Given the description of an element on the screen output the (x, y) to click on. 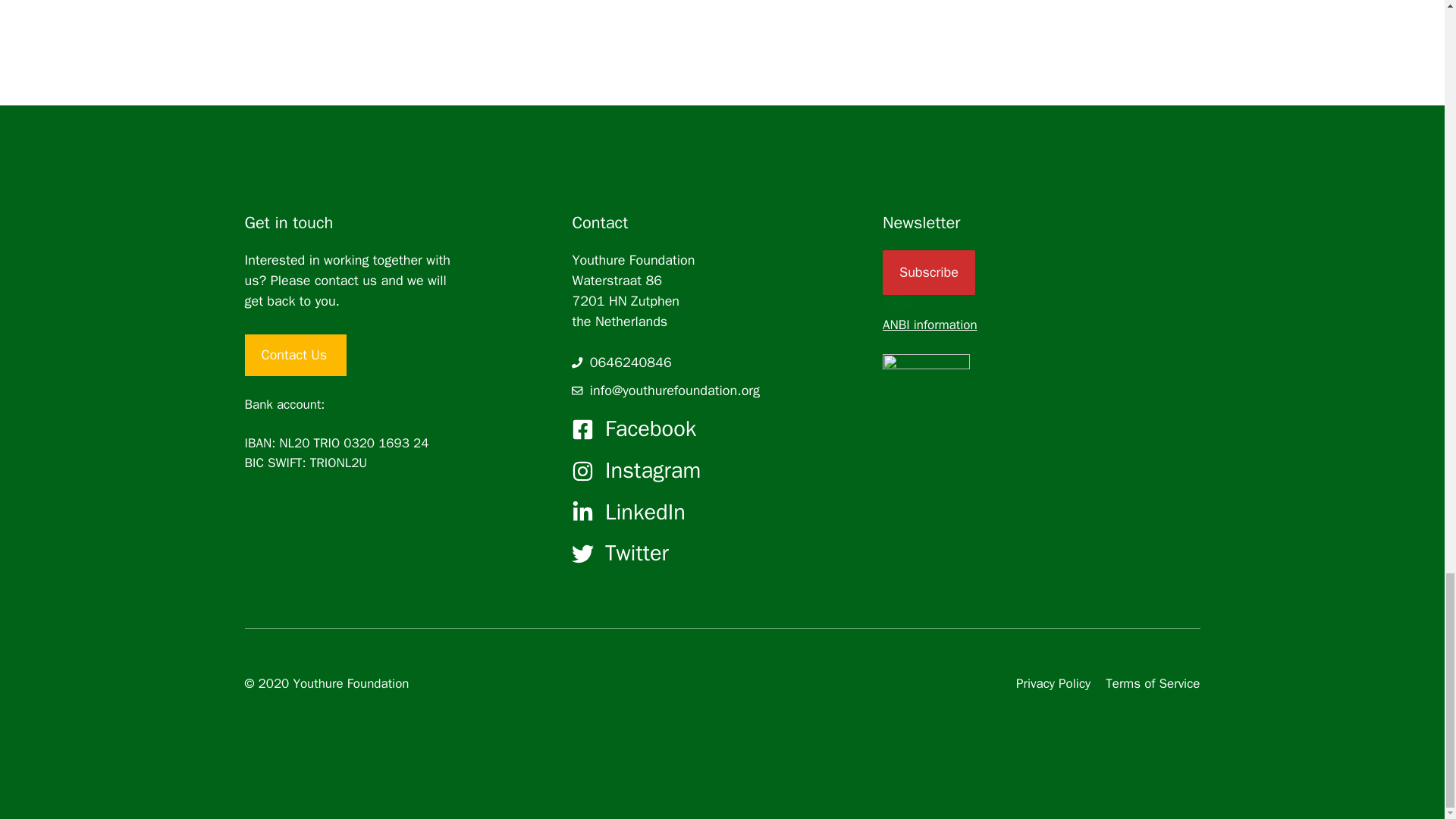
Instagram (652, 470)
Contact Us (295, 354)
Facebook (650, 428)
